Given the description of an element on the screen output the (x, y) to click on. 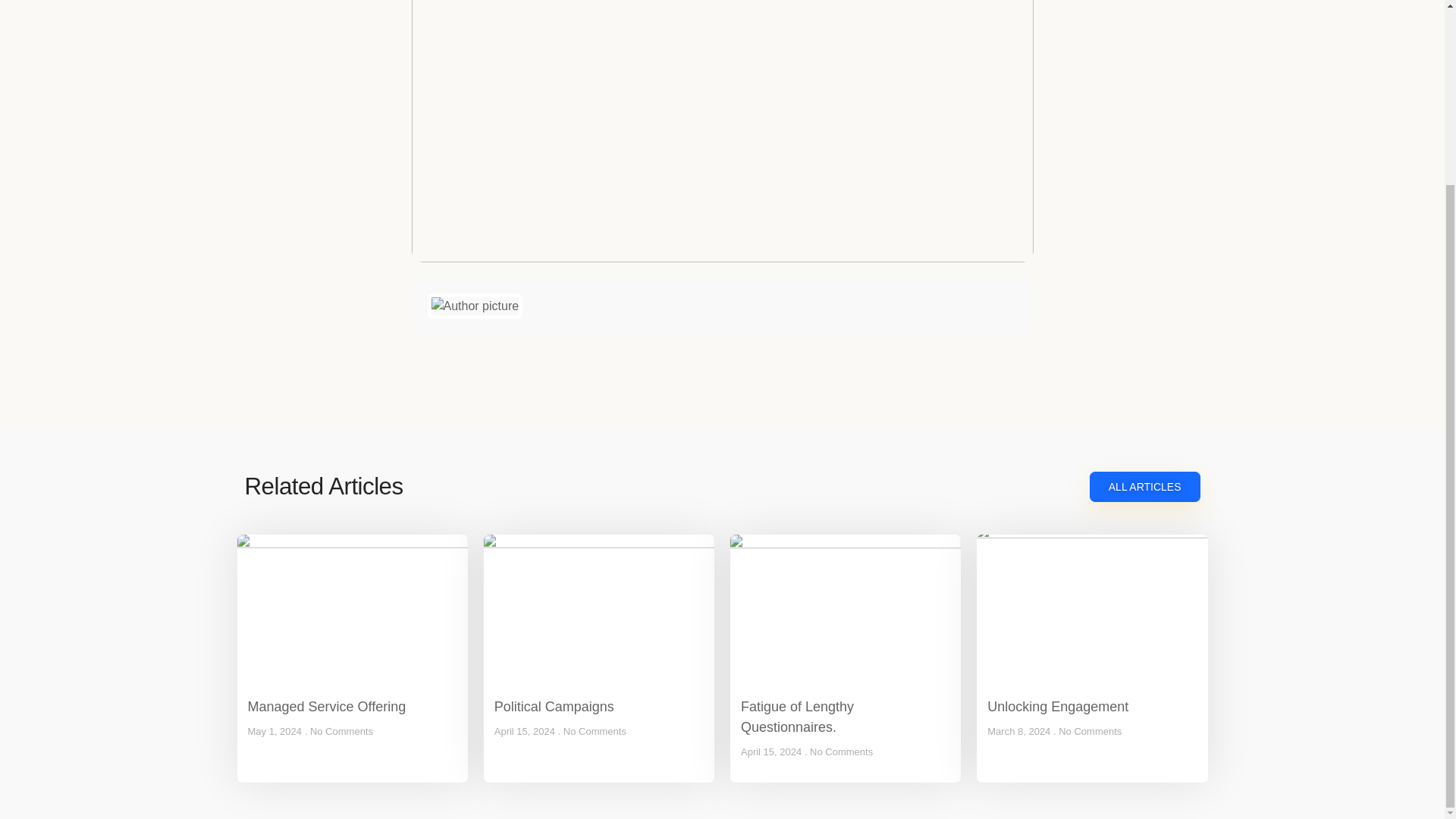
Political Campaigns (554, 706)
Unlocking Engagement (1057, 706)
Managed Service Offering (326, 706)
ALL ARTICLES (1144, 486)
Fatigue of Lengthy Questionnaires. (797, 716)
